Given the description of an element on the screen output the (x, y) to click on. 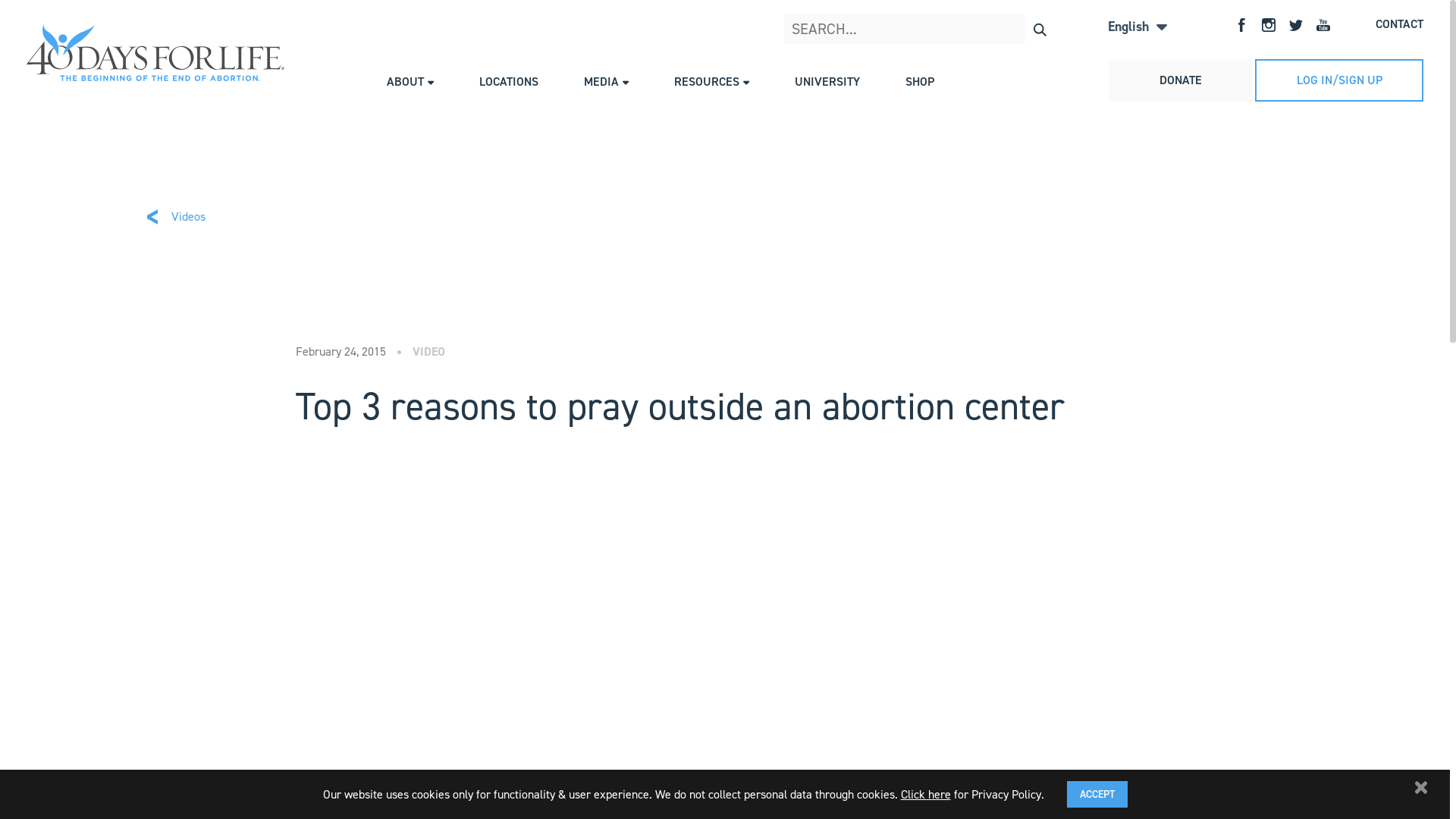
ACCEPT Element type: text (1096, 794)
DONATE Element type: text (1180, 80)
LOG IN/SIGN UP Element type: text (1339, 80)
Click here Element type: text (925, 793)
LOCATIONS Element type: text (508, 81)
SHOP Element type: text (919, 81)
CONTACT Element type: text (1399, 23)
UNIVERSITY Element type: text (826, 81)
